Given the description of an element on the screen output the (x, y) to click on. 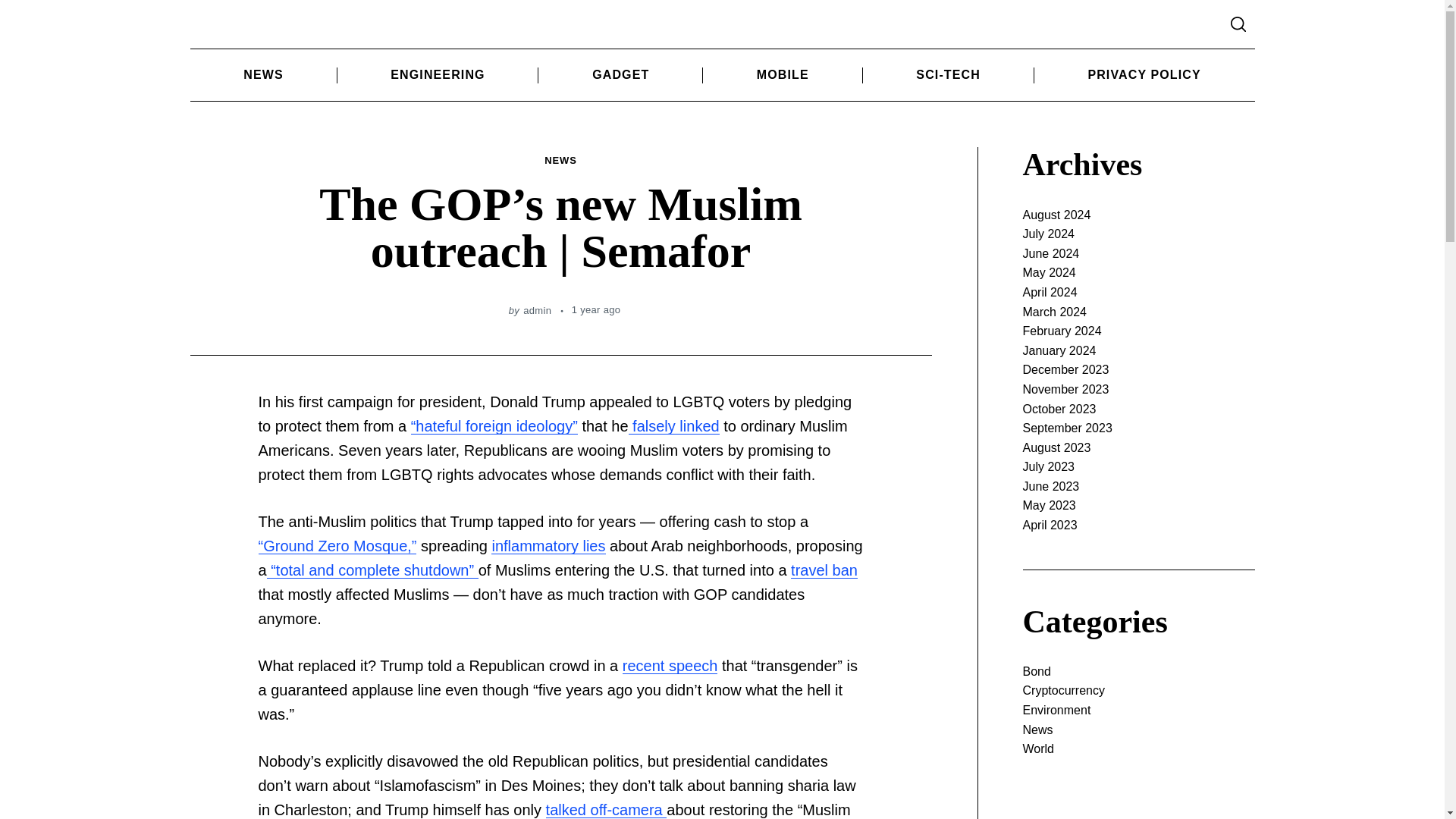
talked off-camera (606, 809)
admin (536, 310)
inflammatory lies (548, 545)
travel ban (823, 569)
recent speech (670, 665)
PRIVACY POLICY (1144, 74)
falsely linked (673, 425)
NEWS (560, 160)
GADGET (620, 74)
MOBILE (782, 74)
SCI-TECH (948, 74)
